Given the description of an element on the screen output the (x, y) to click on. 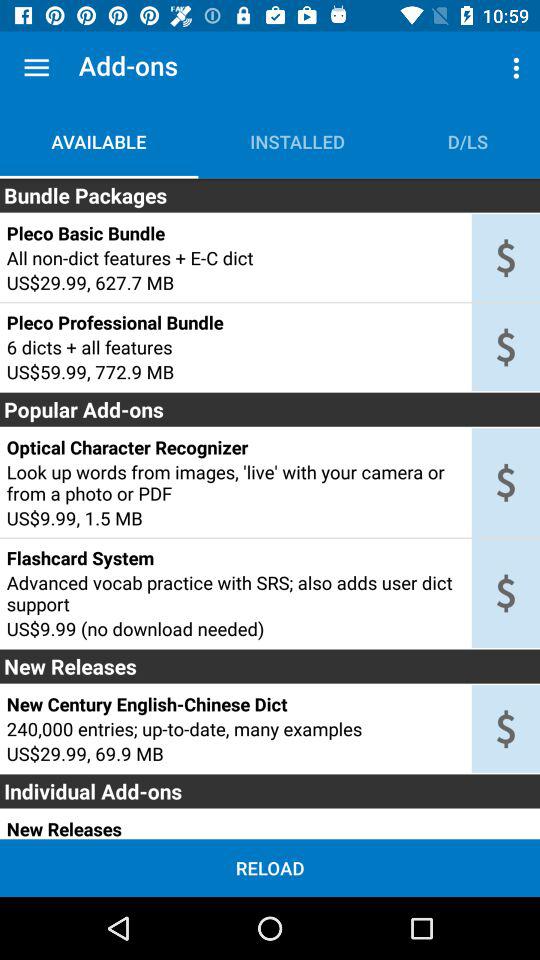
tap item above the bundle packages item (297, 141)
